Given the description of an element on the screen output the (x, y) to click on. 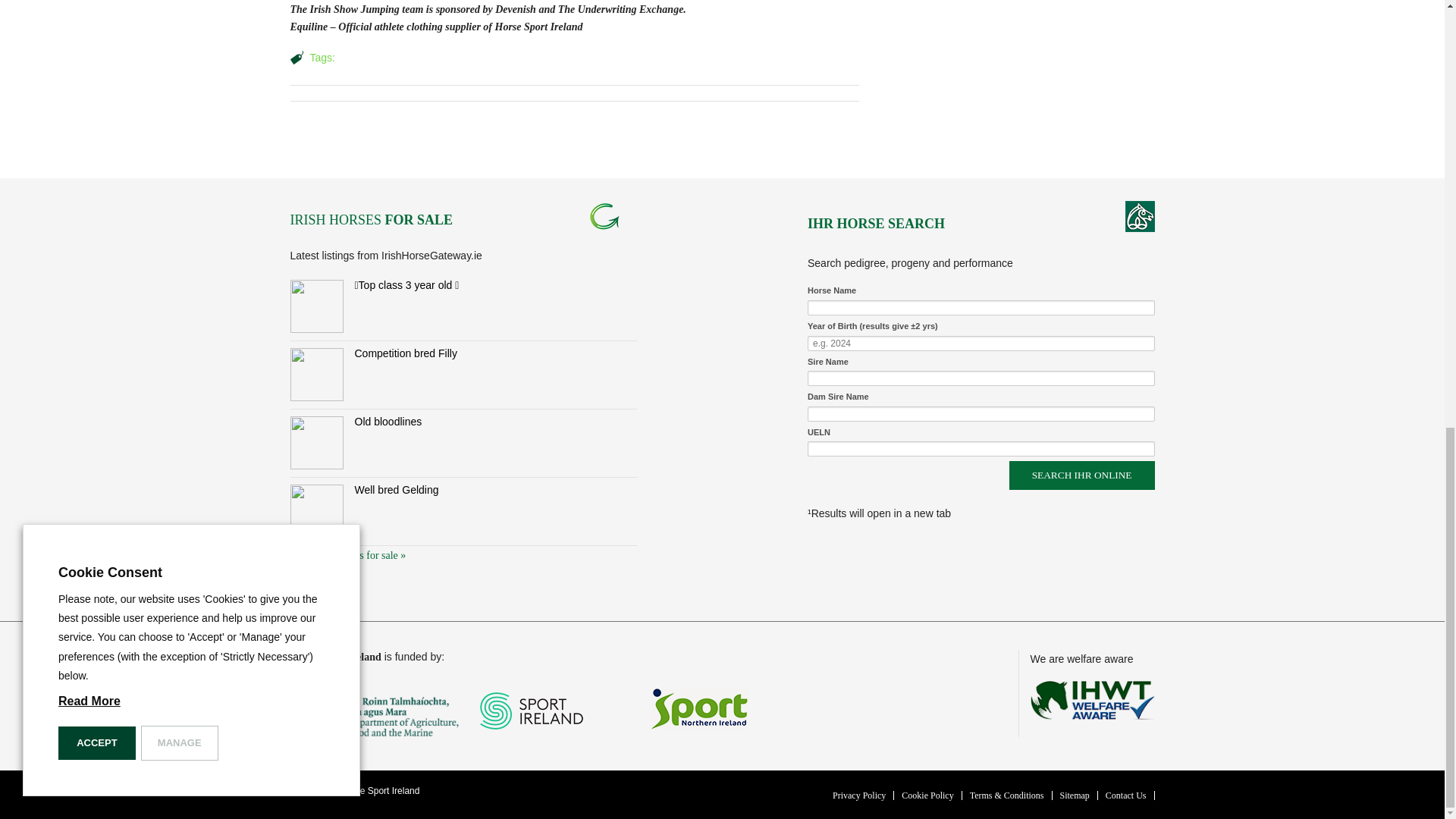
Search IHR Online (1081, 475)
